Given the description of an element on the screen output the (x, y) to click on. 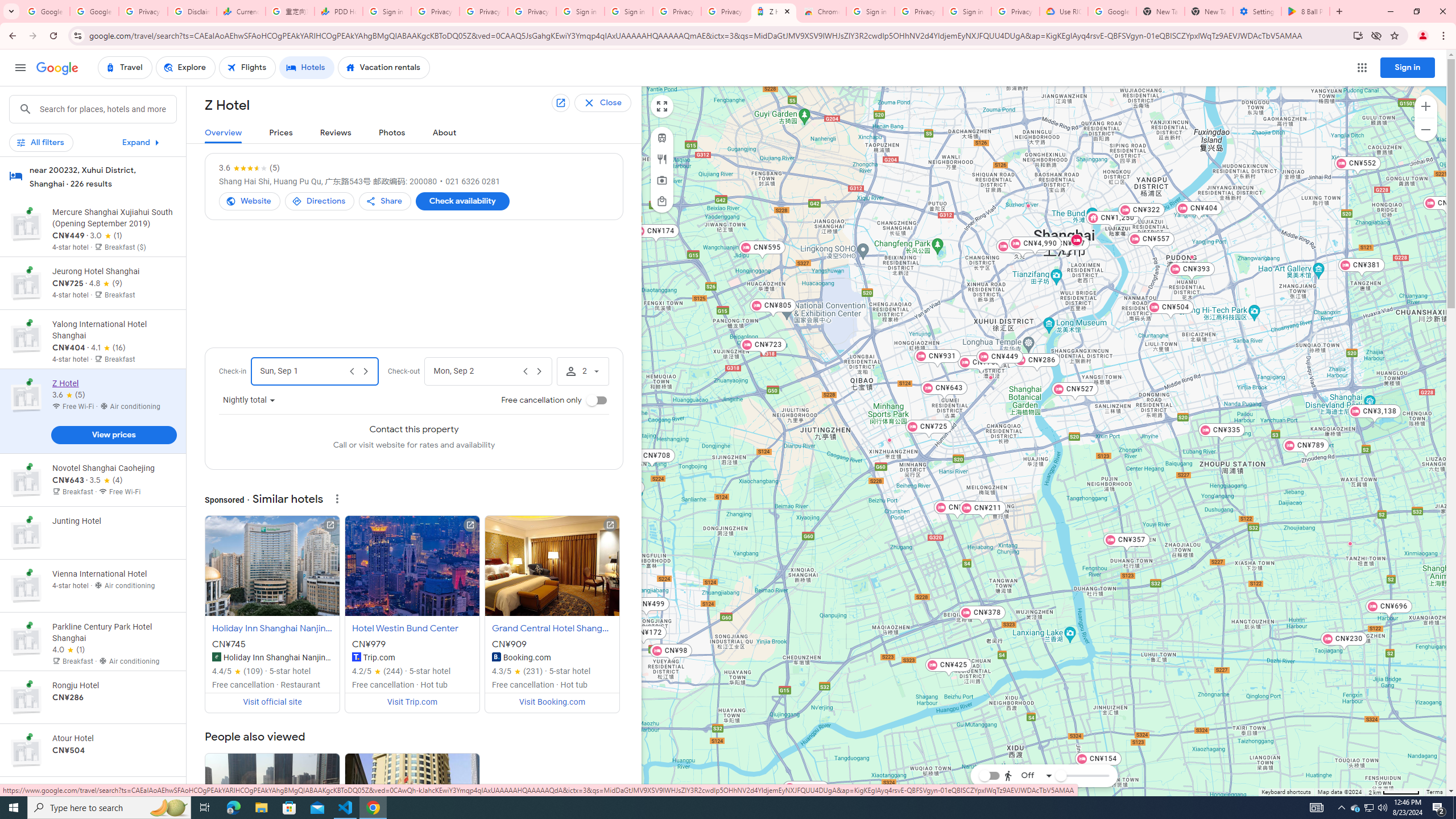
About (444, 133)
Keyboard shortcuts (1285, 791)
Zoom out map (1425, 128)
Hotels (306, 67)
8 Ball Pool - Apps on Google Play (1305, 11)
4.1 out of 5 stars from 16 reviews (107, 347)
Reviews (335, 133)
Sign in - Google Accounts (580, 11)
Junting Hotel (990, 377)
